Given the description of an element on the screen output the (x, y) to click on. 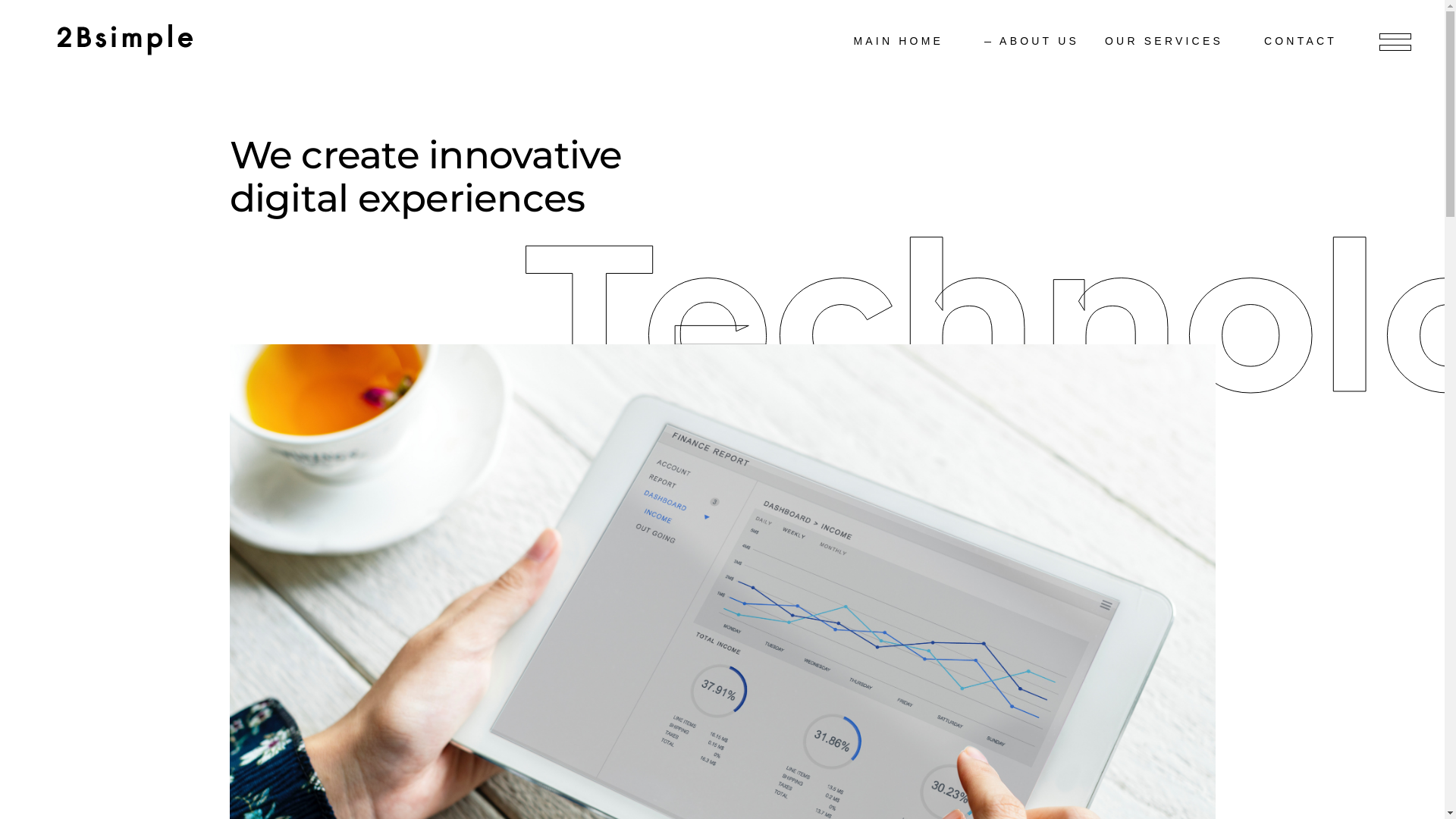
MAIN HOME Element type: text (905, 41)
CONTACT Element type: text (1308, 41)
02-023-1500 Element type: text (299, 608)
Amedeo Element type: hover (268, 552)
INFO@2BSIMPLE.COM Element type: text (335, 635)
OUR SERVICES Element type: text (1171, 41)
ABOUT US Element type: text (1031, 41)
5 SOI TAWEECHERDCHOO, RATCHADAPISEK, DINDAENG, BANGKOK 10400 Element type: text (373, 678)
